Given the description of an element on the screen output the (x, y) to click on. 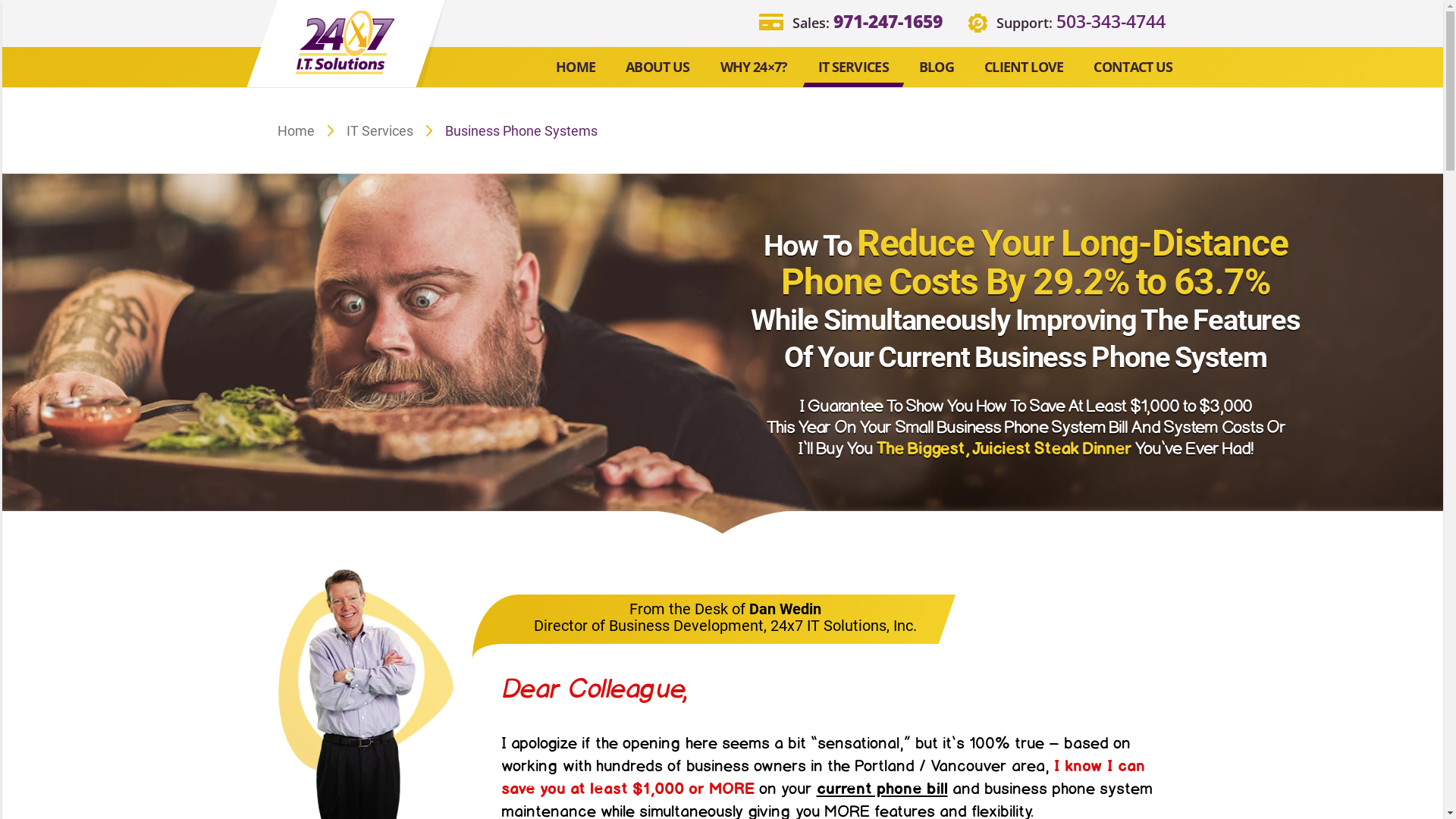
CONTACT US Element type: text (1132, 67)
BLOG Element type: text (936, 67)
ABOUT US Element type: text (657, 67)
IT SERVICES Element type: text (853, 67)
HOME Element type: text (575, 67)
24x7 I.T. Solutions Element type: text (344, 42)
Home Element type: text (295, 130)
IT Services Element type: text (379, 130)
503-343-4744 Element type: text (1109, 21)
971-247-1659 Element type: text (886, 21)
CLIENT LOVE Element type: text (1023, 67)
